Given the description of an element on the screen output the (x, y) to click on. 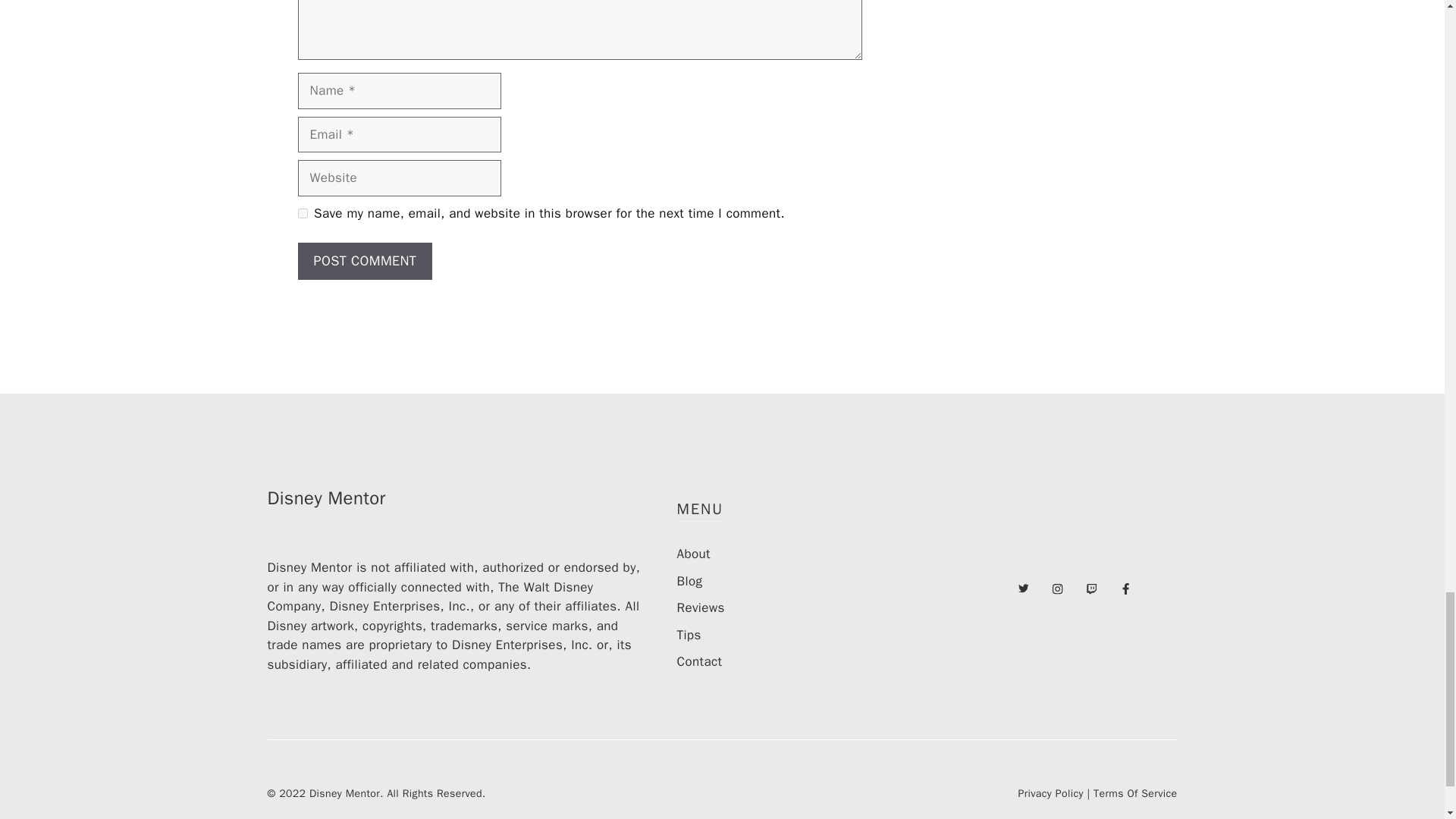
Reviews (700, 607)
Blog (689, 580)
Contact (699, 661)
Terms Of Service (1134, 793)
Tips (688, 634)
yes (302, 213)
Post Comment (364, 261)
Privacy Policy (1050, 793)
About (693, 553)
Post Comment (364, 261)
